Given the description of an element on the screen output the (x, y) to click on. 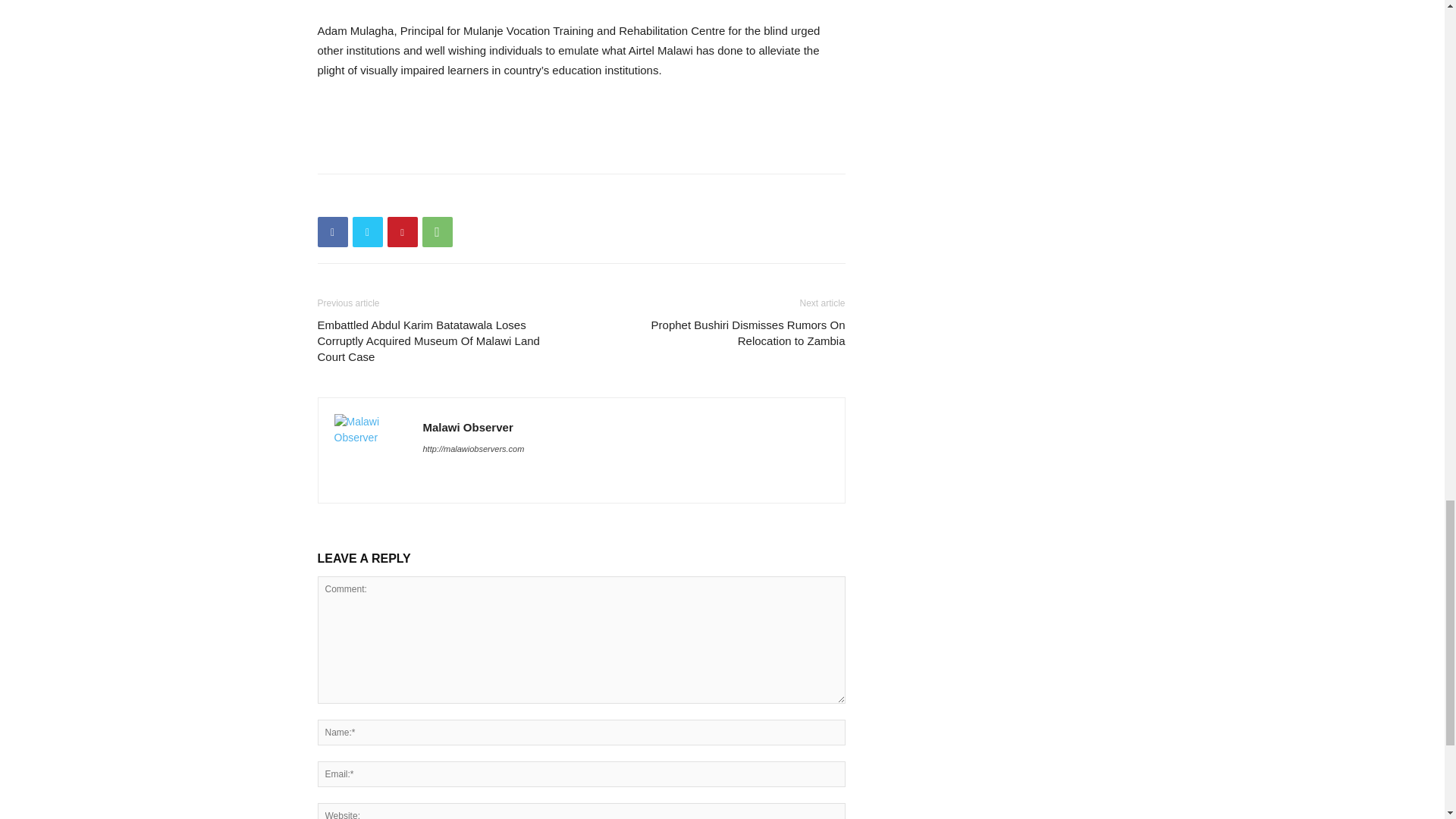
bottomFacebookLike (430, 198)
Facebook (332, 232)
Twitter (366, 232)
Advertisement (580, 122)
